Given the description of an element on the screen output the (x, y) to click on. 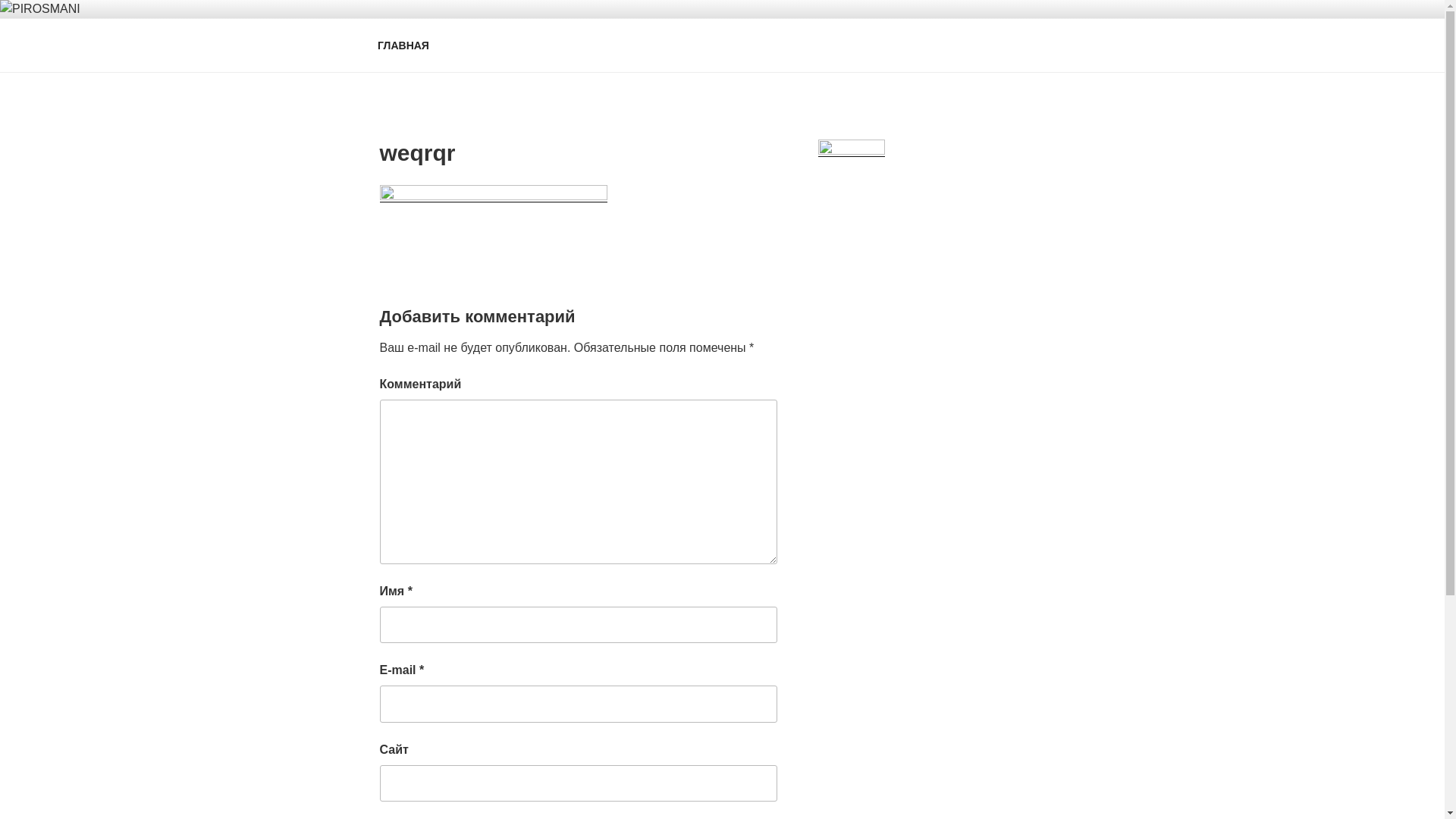
LiveInternet Element type: hover (851, 151)
PIROSMANI Element type: text (456, 53)
